Given the description of an element on the screen output the (x, y) to click on. 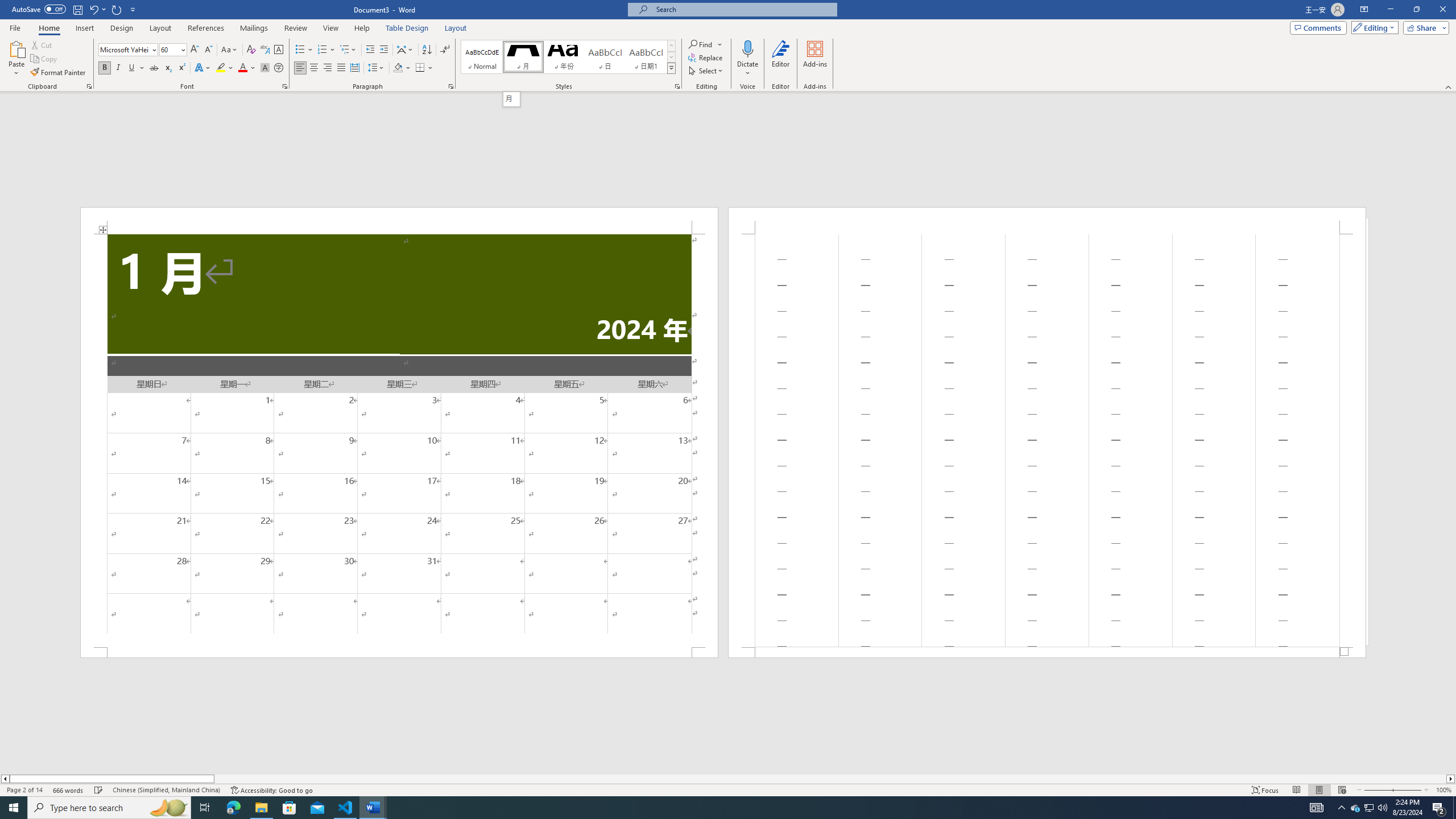
Page Number Page 2 of 14 (24, 790)
